Given the description of an element on the screen output the (x, y) to click on. 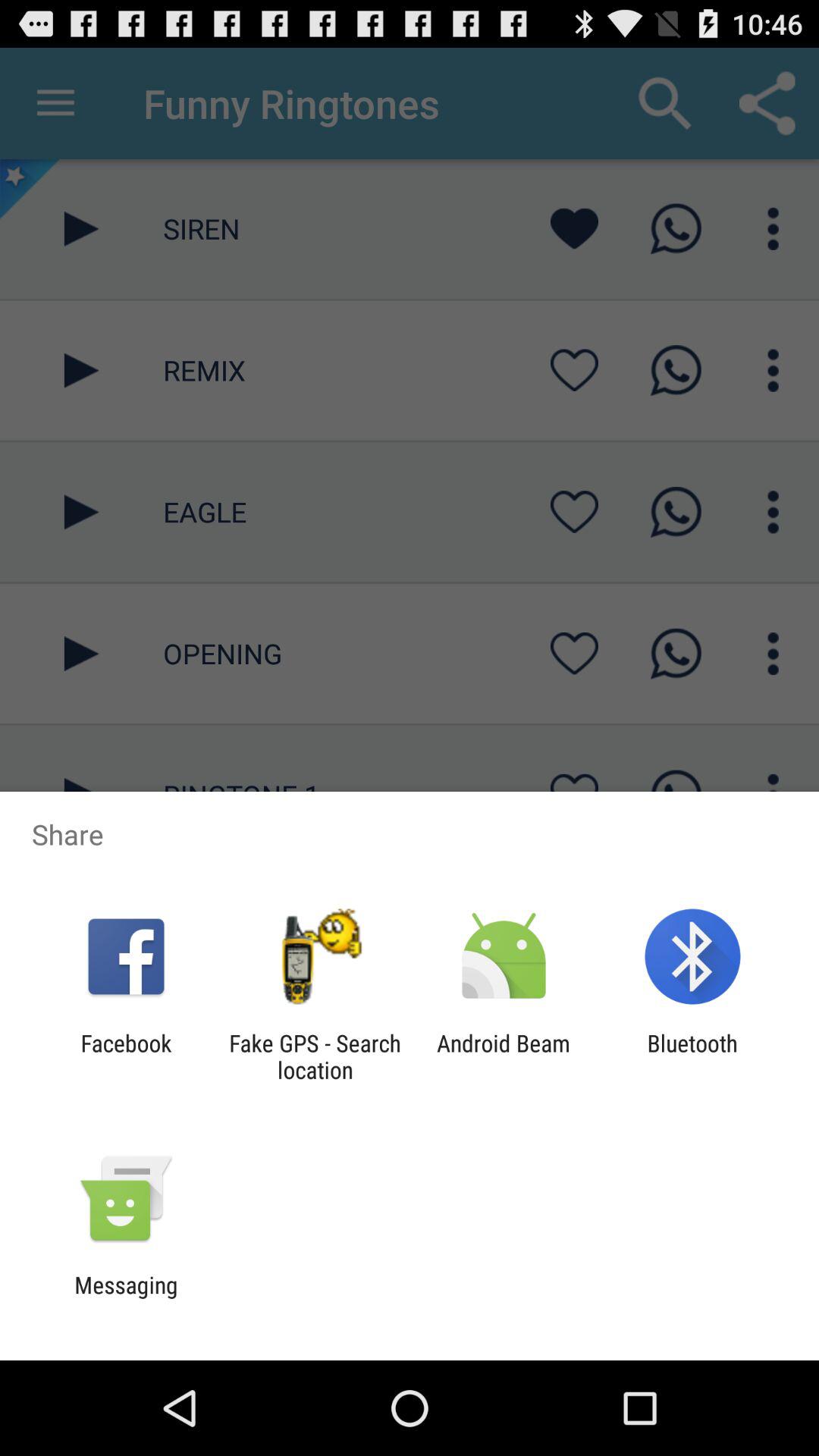
press item to the right of android beam item (692, 1056)
